Given the description of an element on the screen output the (x, y) to click on. 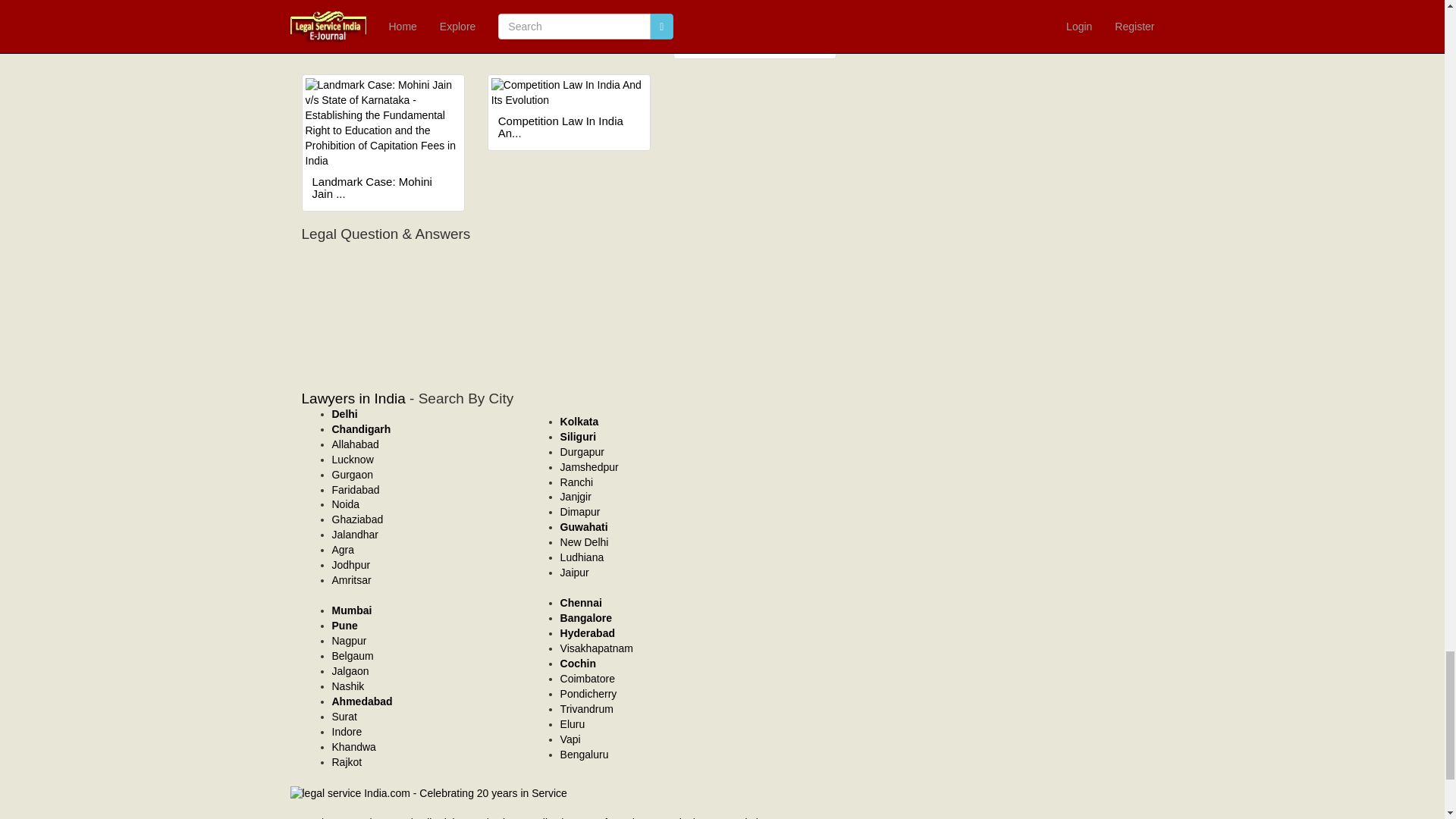
Landmark Case: Mohini Jain ... (383, 188)
lawyers in Jodhpur (351, 564)
lawyers in Nashik (348, 686)
Lawyers in Chandigarh (361, 428)
Lawyers in Faridabad (355, 490)
Ownership Of Genetic Resour... (754, 35)
Allahabad (354, 444)
lawyers in Nagpur (348, 640)
lawyers in Pune (344, 625)
lawyers in Mumbai (351, 610)
